Given the description of an element on the screen output the (x, y) to click on. 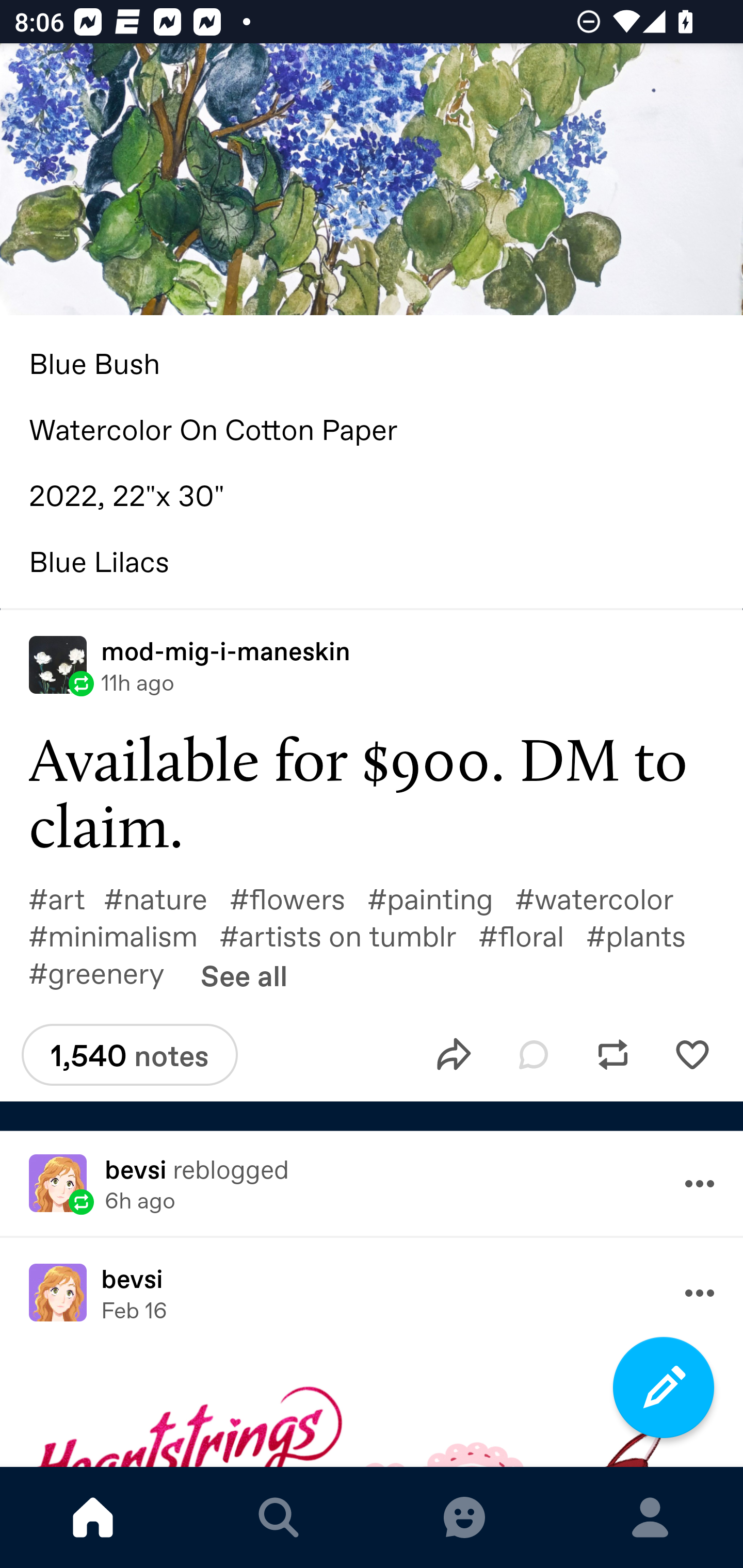
#art (66, 898)
#nature (166, 898)
#flowers (298, 898)
#painting (440, 898)
#watercolor (605, 898)
#minimalism (123, 935)
#artists on tumblr (348, 935)
#floral (532, 935)
#plants (646, 935)
#greenery (107, 971)
See all (243, 975)
Share post to message (454, 1055)
Reblog (612, 1055)
Like (691, 1055)
1,540 notes (129, 1054)
Avatar frame bevsi reblogged    bevsi 6h ago (371, 1182)
Compose a new post (663, 1387)
DASHBOARD (92, 1517)
EXPLORE (278, 1517)
MESSAGES (464, 1517)
ACCOUNT (650, 1517)
